Given the description of an element on the screen output the (x, y) to click on. 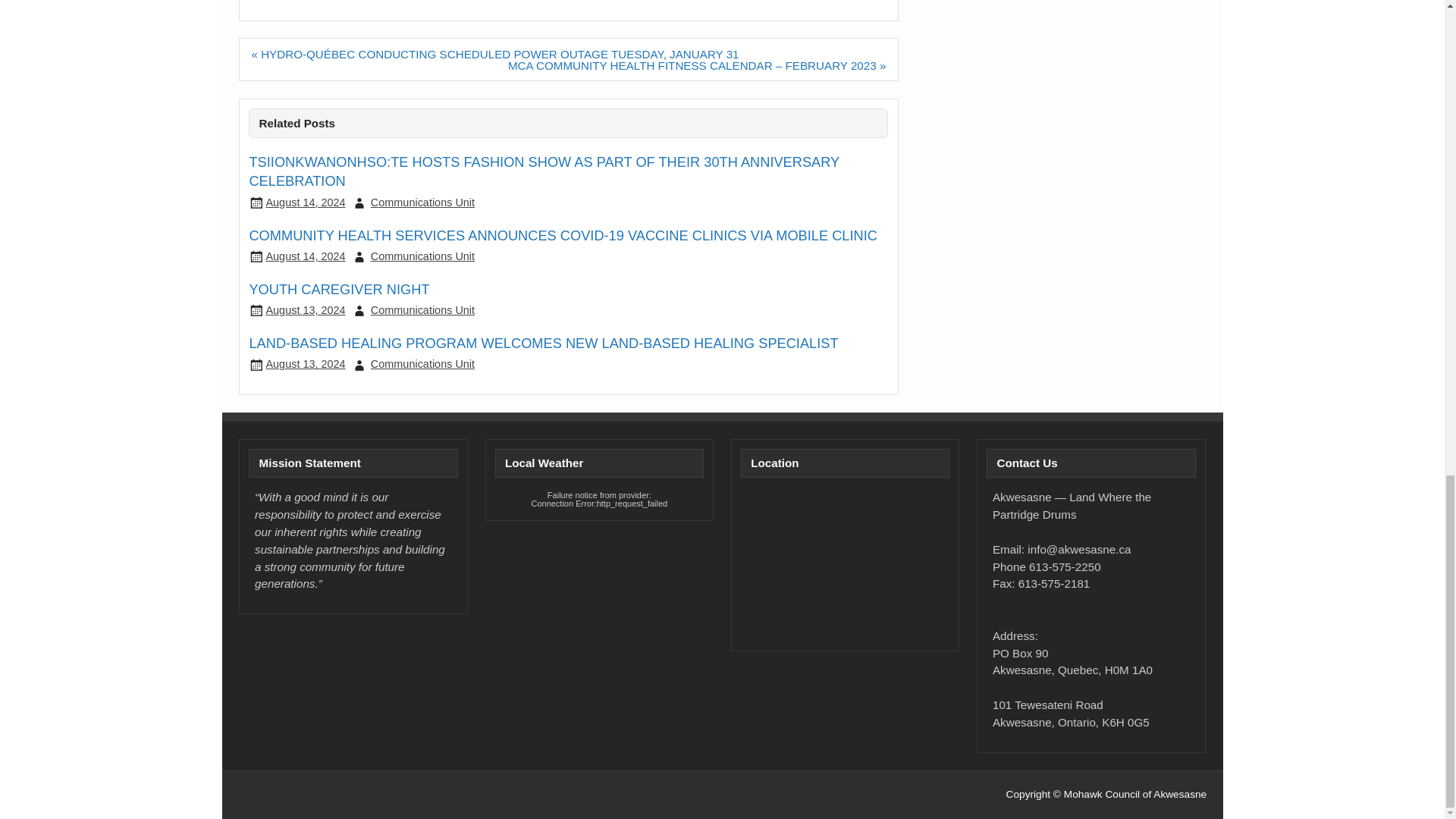
3:00 PM (304, 202)
View all posts by Communications Unit (422, 309)
2:00 PM (304, 256)
2:15 PM (304, 363)
View all posts by Communications Unit (422, 202)
View all posts by Communications Unit (422, 256)
2:20 PM (304, 309)
View all posts by Communications Unit (422, 363)
